Given the description of an element on the screen output the (x, y) to click on. 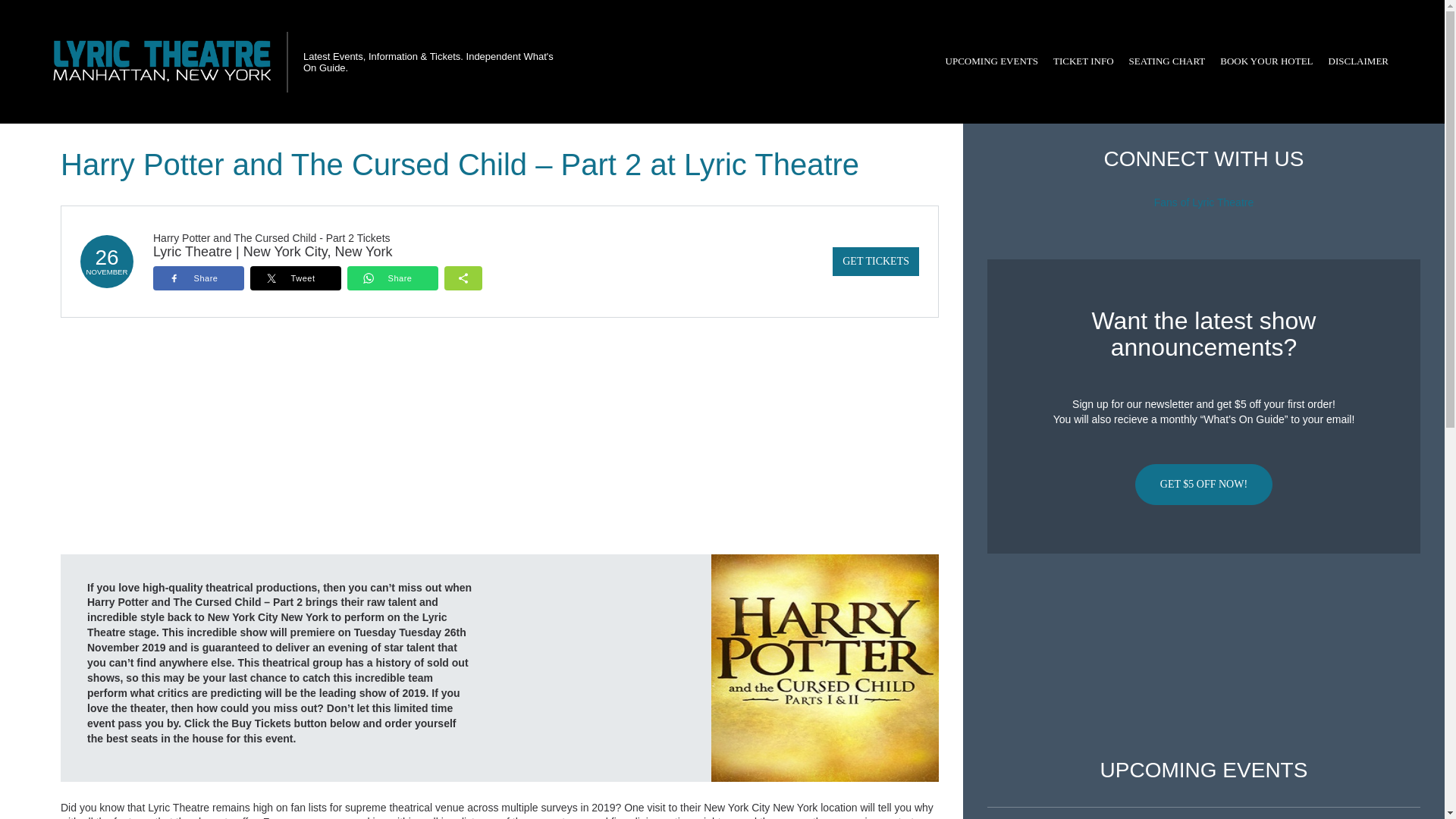
SEATING CHART (1166, 61)
Advertisement (1204, 655)
GET TICKETS (875, 261)
Fans of Lyric Theatre (1203, 202)
Harry Potter and The Cursed Child - Part 2 Tickets (271, 237)
Harry Potter and The Cursed Child - Part 2 at Lyric Theatre (825, 667)
TICKET INFO (1083, 61)
BOOK YOUR HOTEL (1266, 61)
UPCOMING EVENTS (991, 61)
DISCLAIMER (1358, 61)
